Given the description of an element on the screen output the (x, y) to click on. 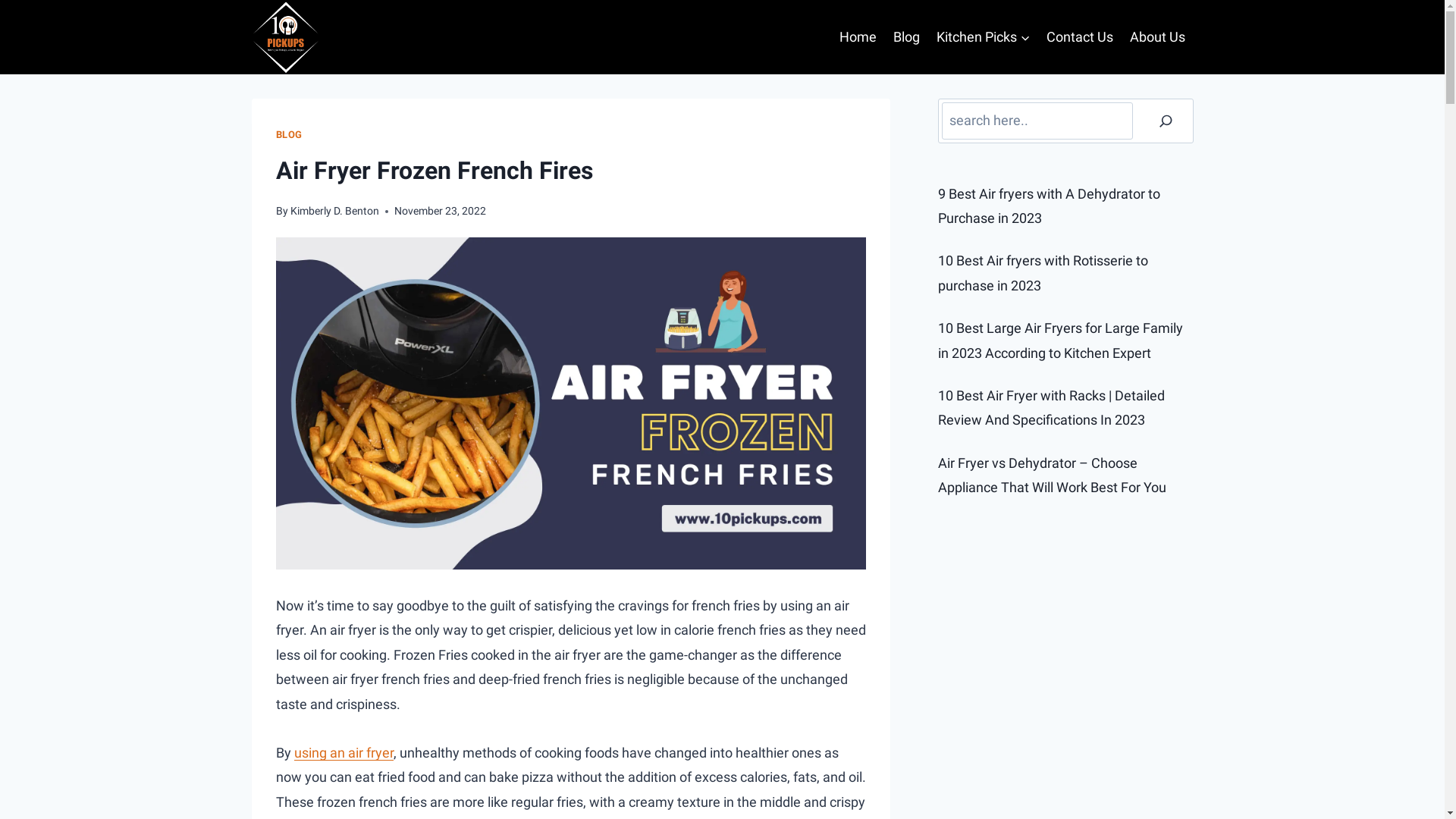
Blog Element type: text (906, 36)
BLOG Element type: text (289, 134)
About Us Element type: text (1157, 36)
10 Best Air fryers with Rotisserie to purchase in 2023 Element type: text (1043, 272)
Kitchen Picks Element type: text (983, 36)
Home Element type: text (858, 36)
Kimberly D. Benton Element type: text (334, 210)
Contact Us Element type: text (1079, 36)
9 Best Air fryers with A Dehydrator to Purchase in 2023 Element type: text (1049, 205)
using an air fryer Element type: text (343, 752)
